Given the description of an element on the screen output the (x, y) to click on. 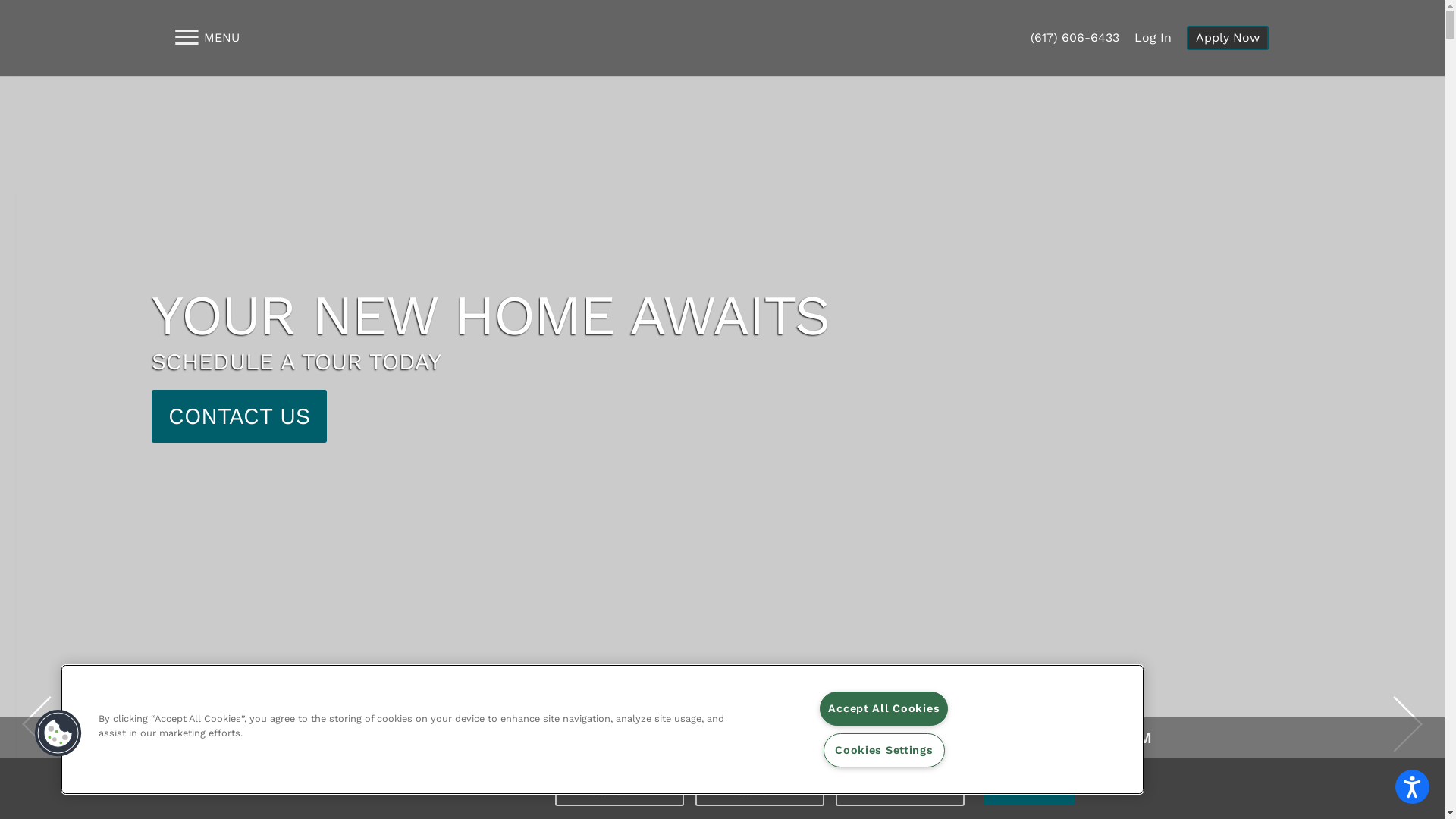
Apply Now Element type: text (1226, 37)
Log In Element type: text (1152, 37)
CONTACT US Element type: text (238, 415)
(617) 606-6433 Element type: text (1073, 37)
Accept All Cookies Element type: text (883, 708)
SEARCH Element type: text (1028, 790)
Cookies Settings Element type: text (883, 750)
Cookies Button Element type: text (58, 733)
